Given the description of an element on the screen output the (x, y) to click on. 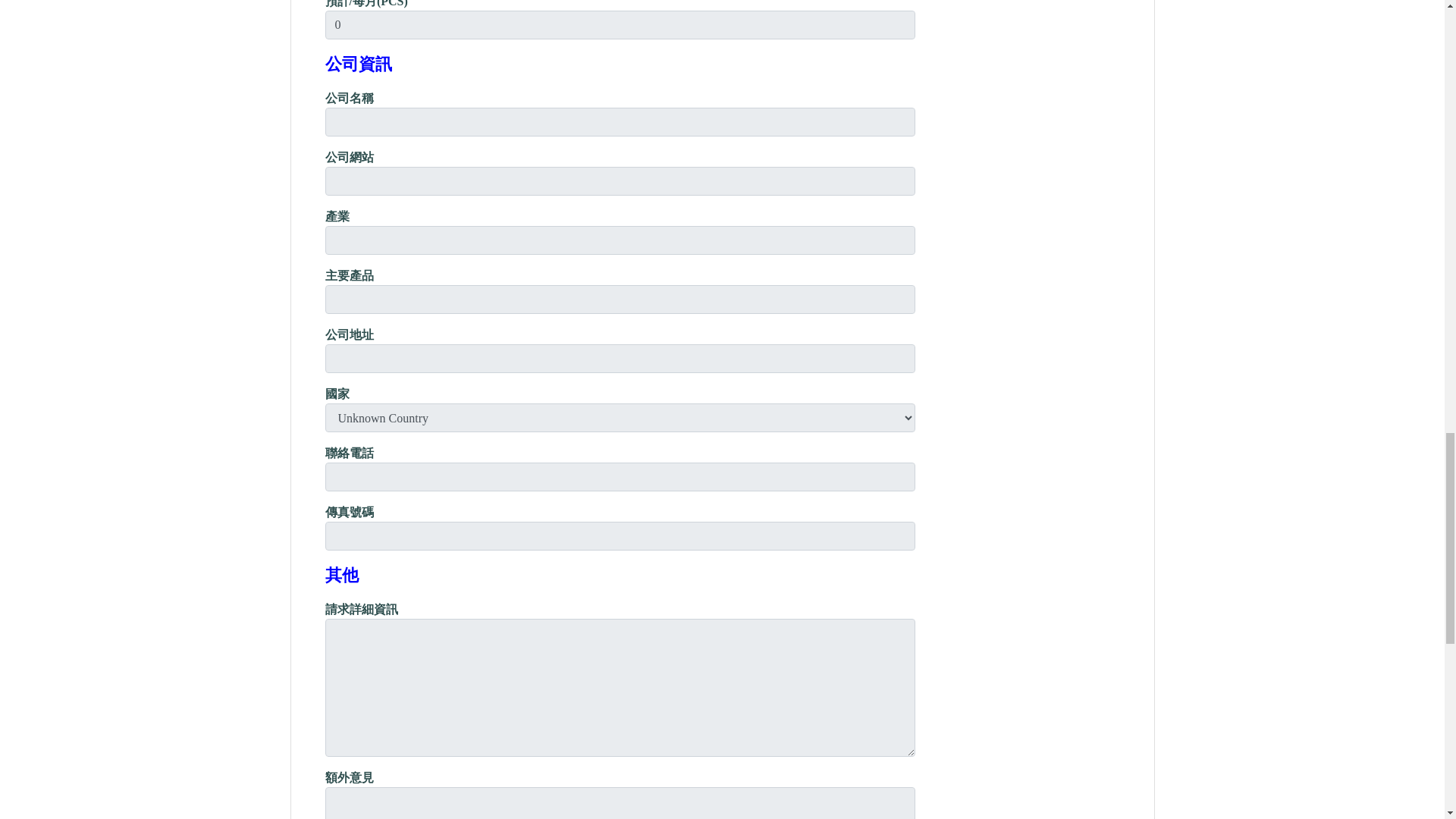
0 (619, 24)
